Given the description of an element on the screen output the (x, y) to click on. 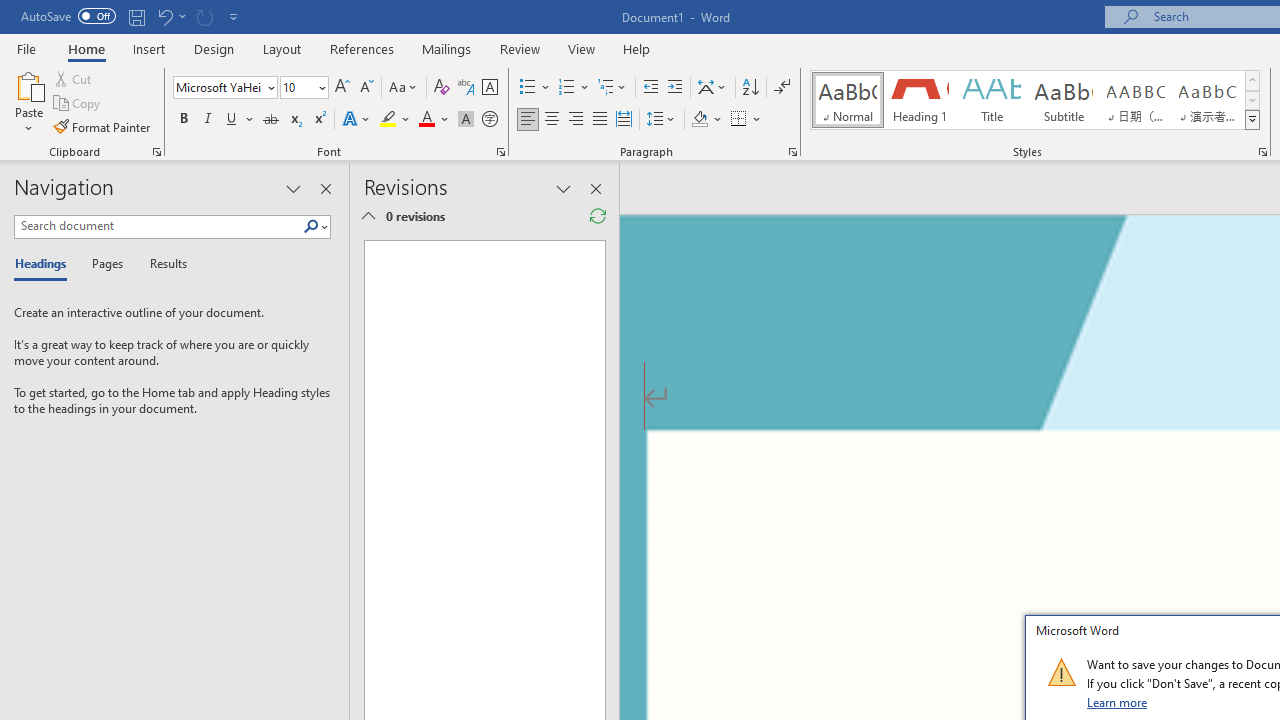
Font Size (304, 87)
Decrease Indent (650, 87)
Undo Paragraph Alignment (170, 15)
Copy (78, 103)
Asian Layout (712, 87)
Font (224, 87)
Phonetic Guide... (465, 87)
System (10, 11)
Pages (105, 264)
Layout (282, 48)
File Tab (26, 48)
Underline (239, 119)
Sort... (750, 87)
Title (991, 100)
Cut (73, 78)
